Given the description of an element on the screen output the (x, y) to click on. 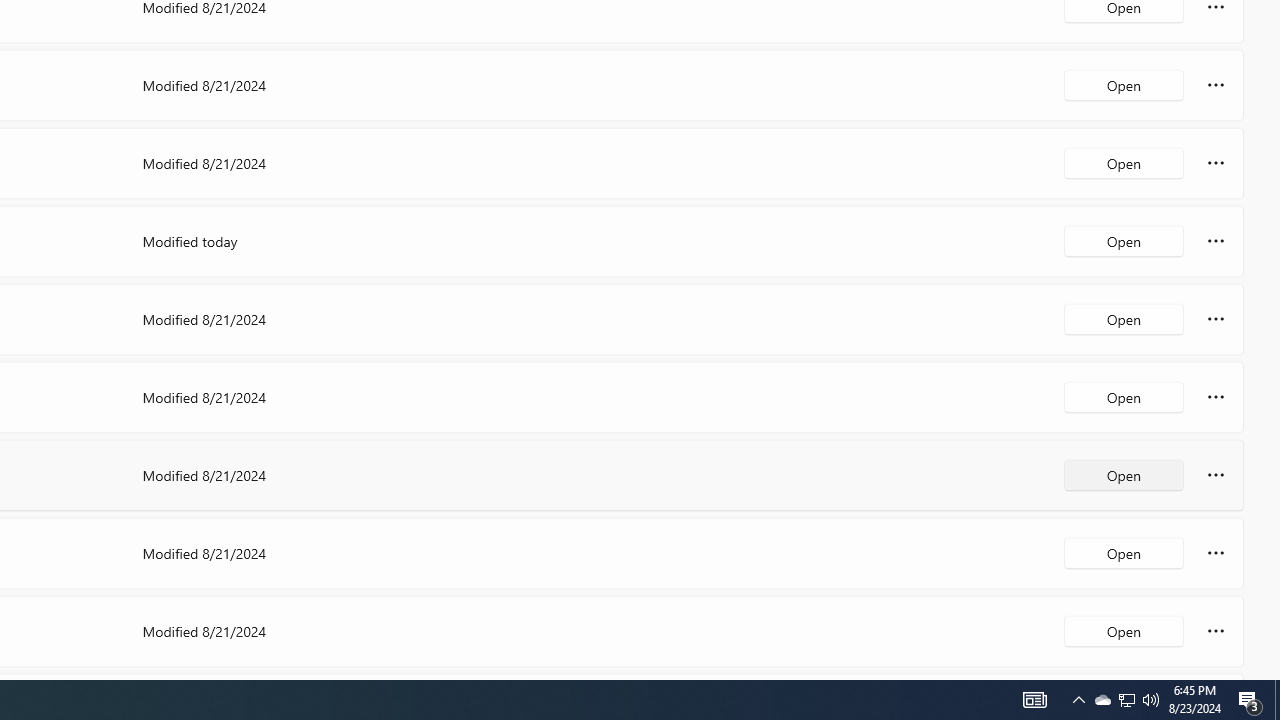
Open (1123, 630)
More options (1215, 630)
